Given the description of an element on the screen output the (x, y) to click on. 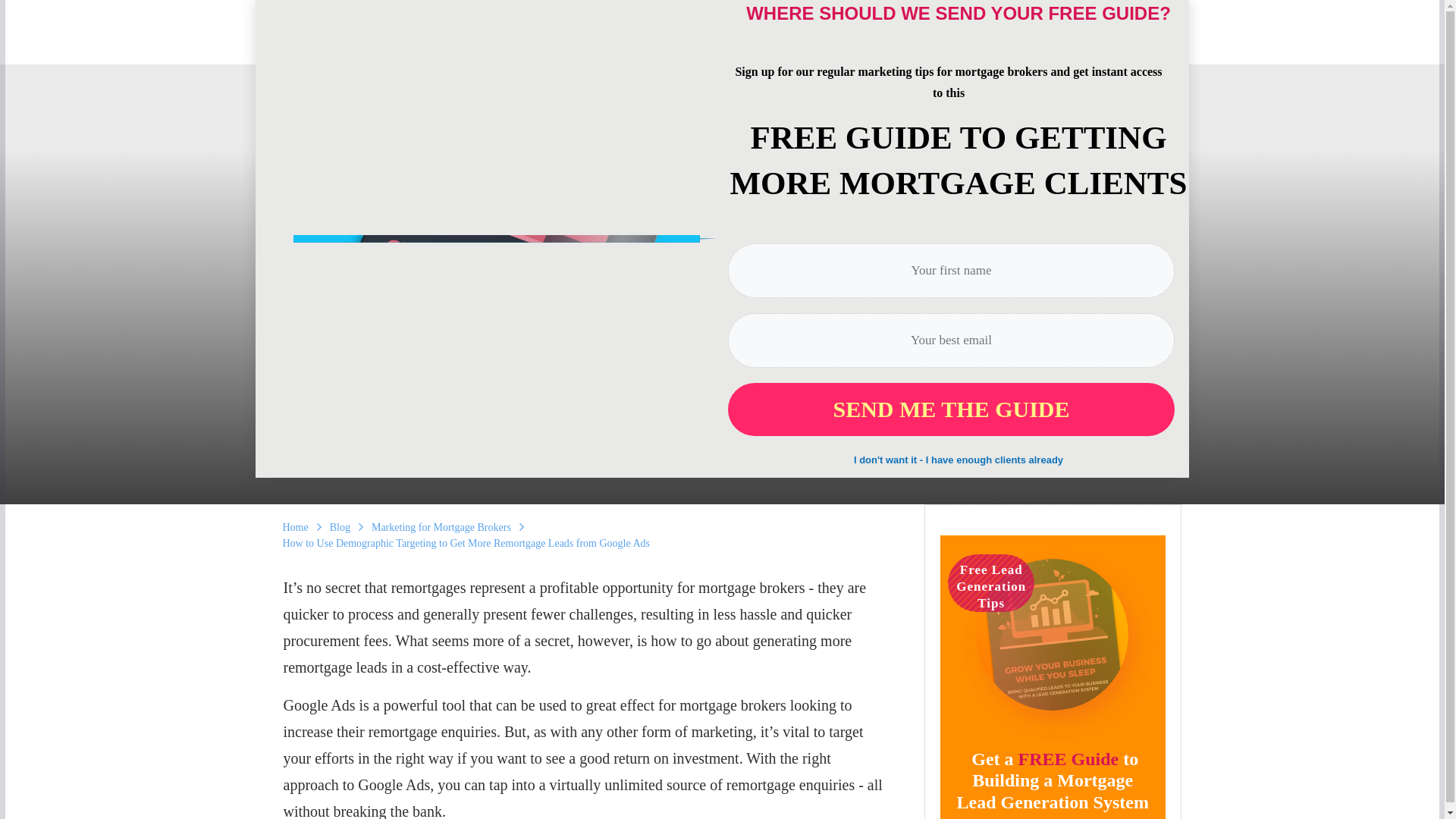
BLOG (972, 45)
Marketing for Mortgage Brokers (727, 386)
MARKETING FOR MORTGAGE BROKERS (727, 386)
CONTACT (1147, 45)
SERVICES (718, 45)
RESOURCES (886, 45)
HOME (589, 45)
COURSES (799, 45)
MEMBERS AREA (1058, 45)
Blog (340, 526)
Marketing for Mortgage Brokers (441, 526)
ABOUT (644, 45)
Home (294, 526)
